Given the description of an element on the screen output the (x, y) to click on. 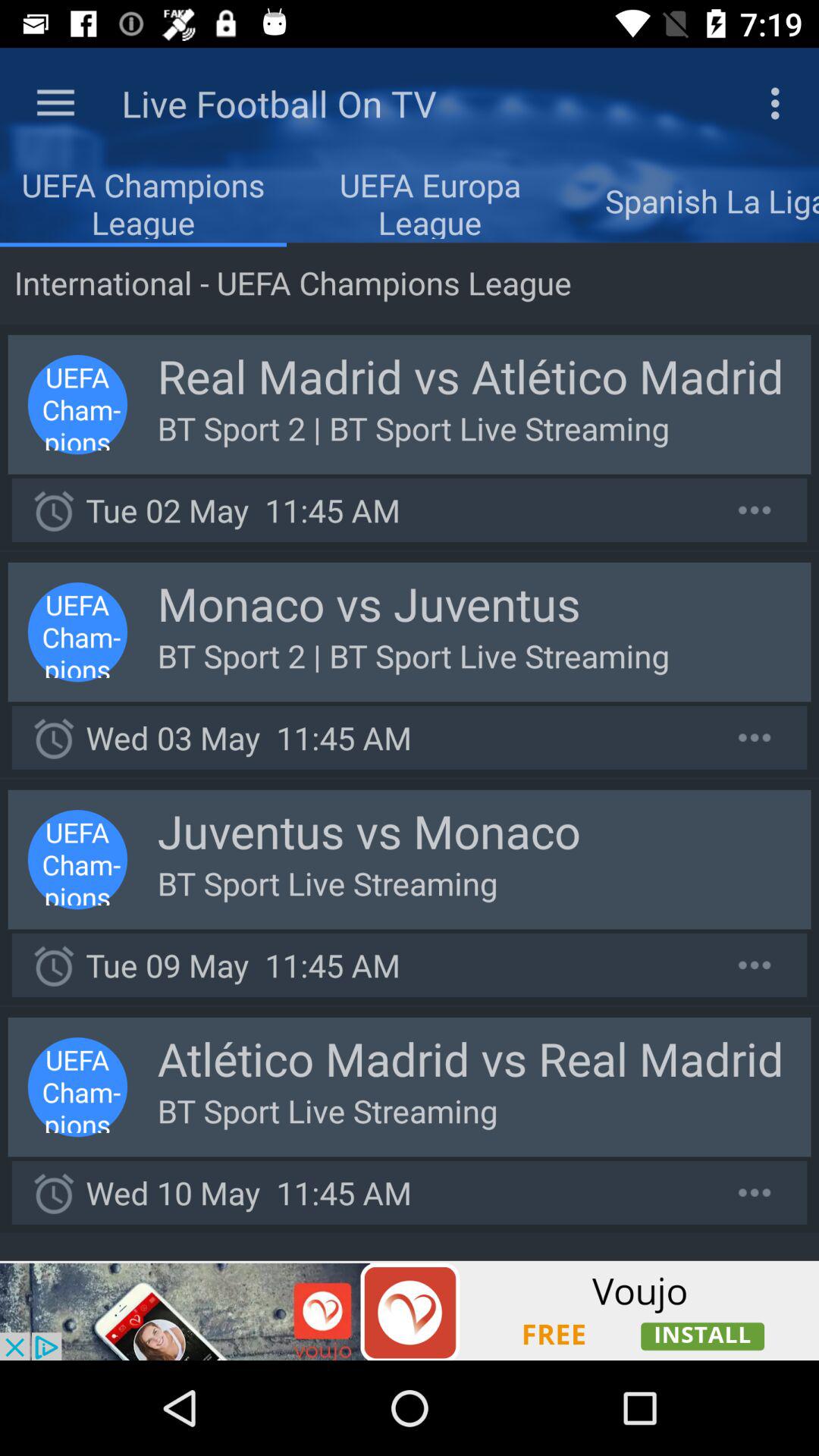
three dot menu (755, 737)
